Given the description of an element on the screen output the (x, y) to click on. 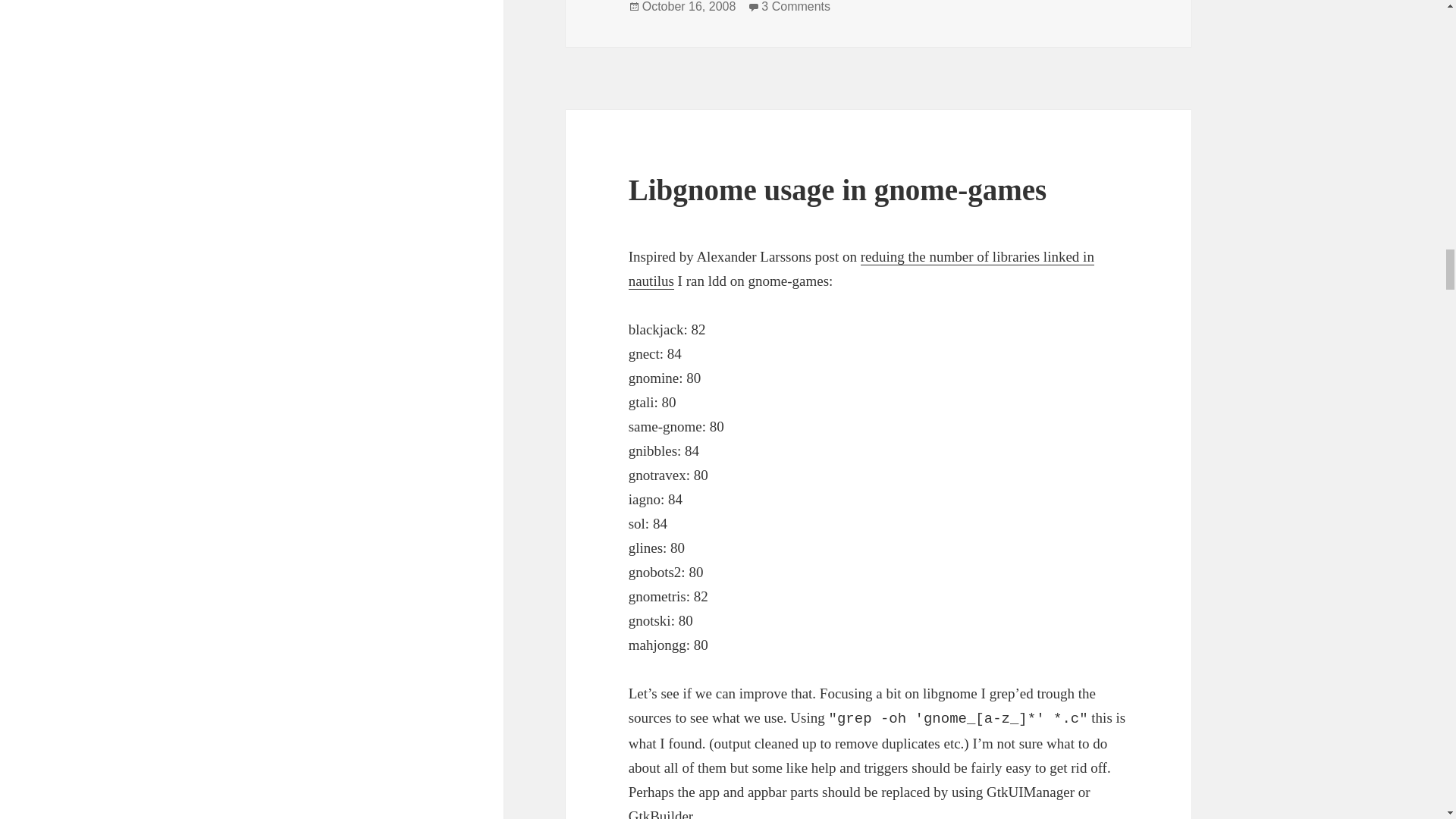
towards a ridley based platform (861, 268)
Libgnome usage in gnome-games (837, 189)
October 16, 2008 (795, 6)
reduing the number of libraries linked in nautilus (689, 6)
